Given the description of an element on the screen output the (x, y) to click on. 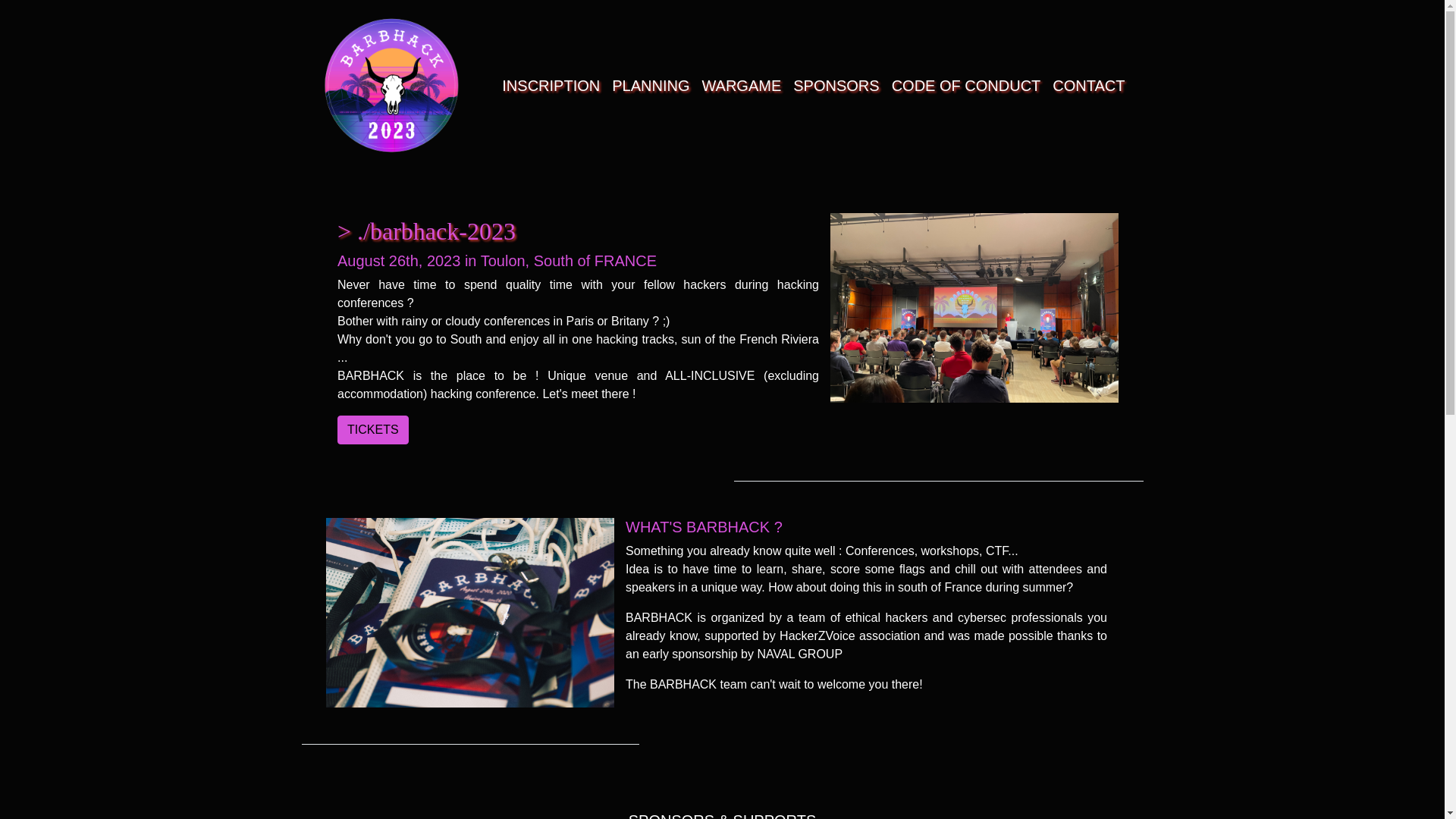
WARGAME (741, 85)
CONTACT (1088, 85)
SPONSORS (836, 85)
INSCRIPTION (550, 85)
TICKETS (373, 429)
CODE OF CONDUCT (965, 85)
PLANNING (650, 85)
